Given the description of an element on the screen output the (x, y) to click on. 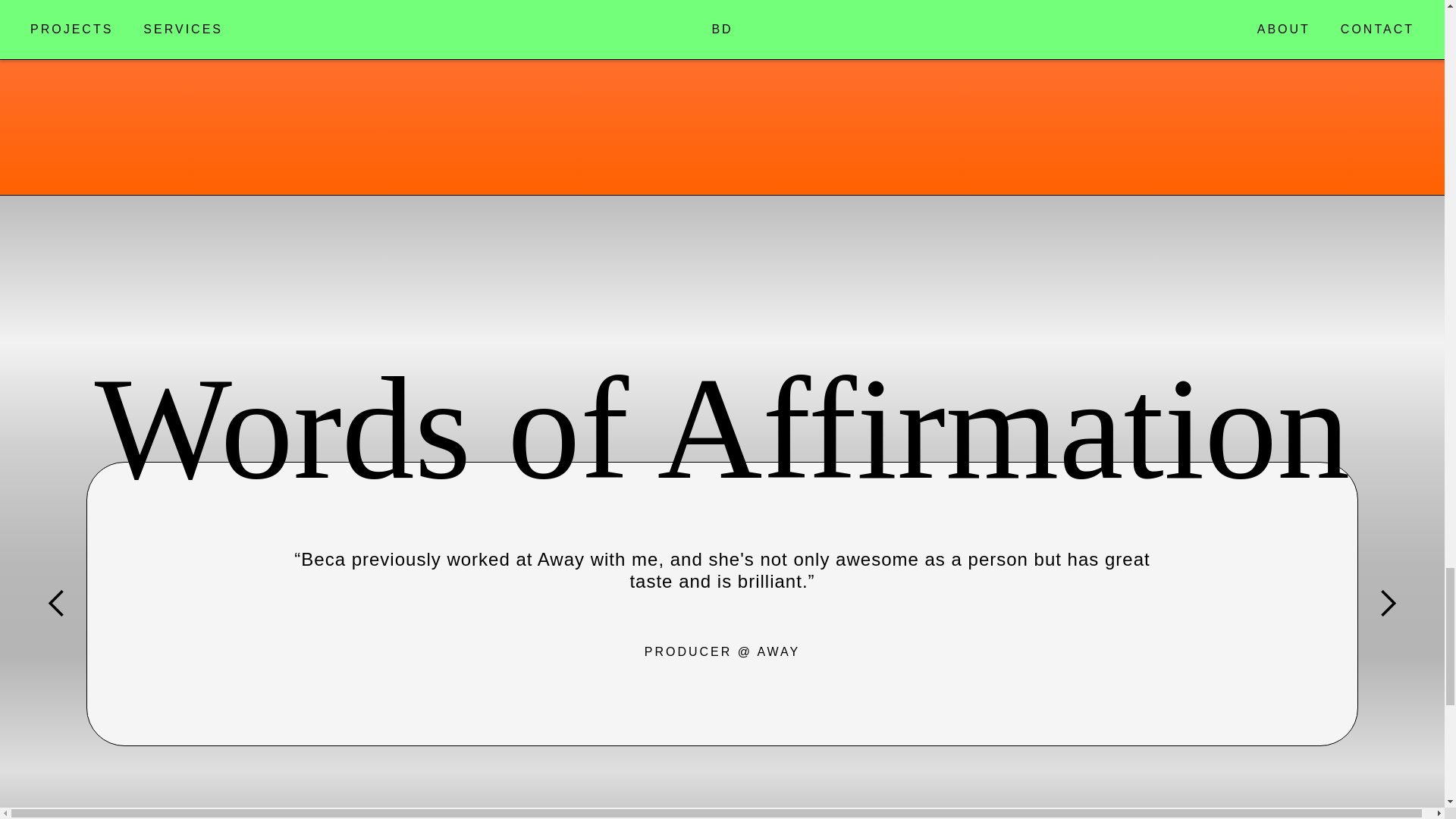
MORE INFO (1154, 40)
BOOK NOW (728, 40)
LEARN MORE (296, 40)
